Given the description of an element on the screen output the (x, y) to click on. 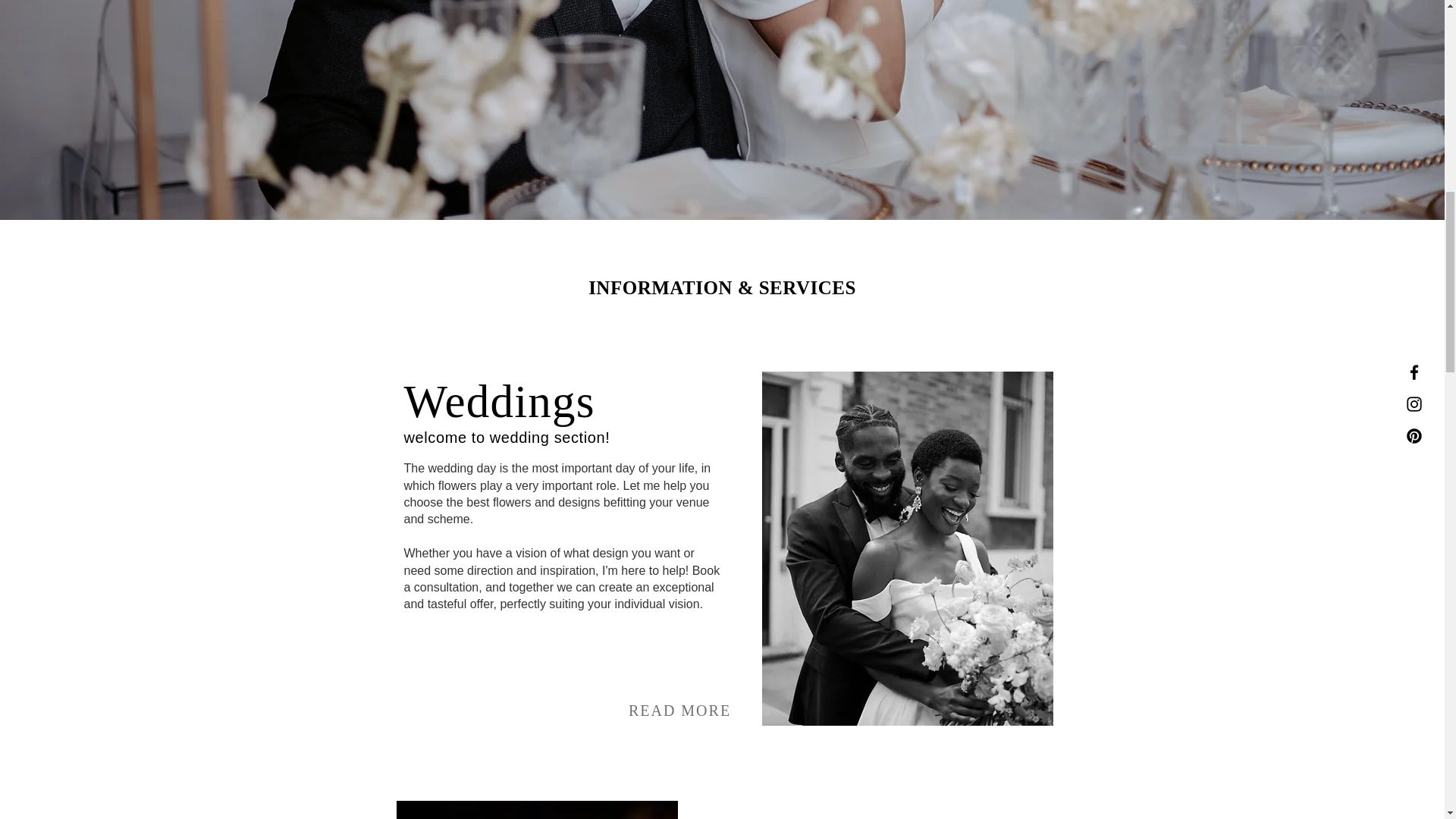
Weddings (498, 400)
READ MORE (678, 710)
Events (804, 816)
